Given the description of an element on the screen output the (x, y) to click on. 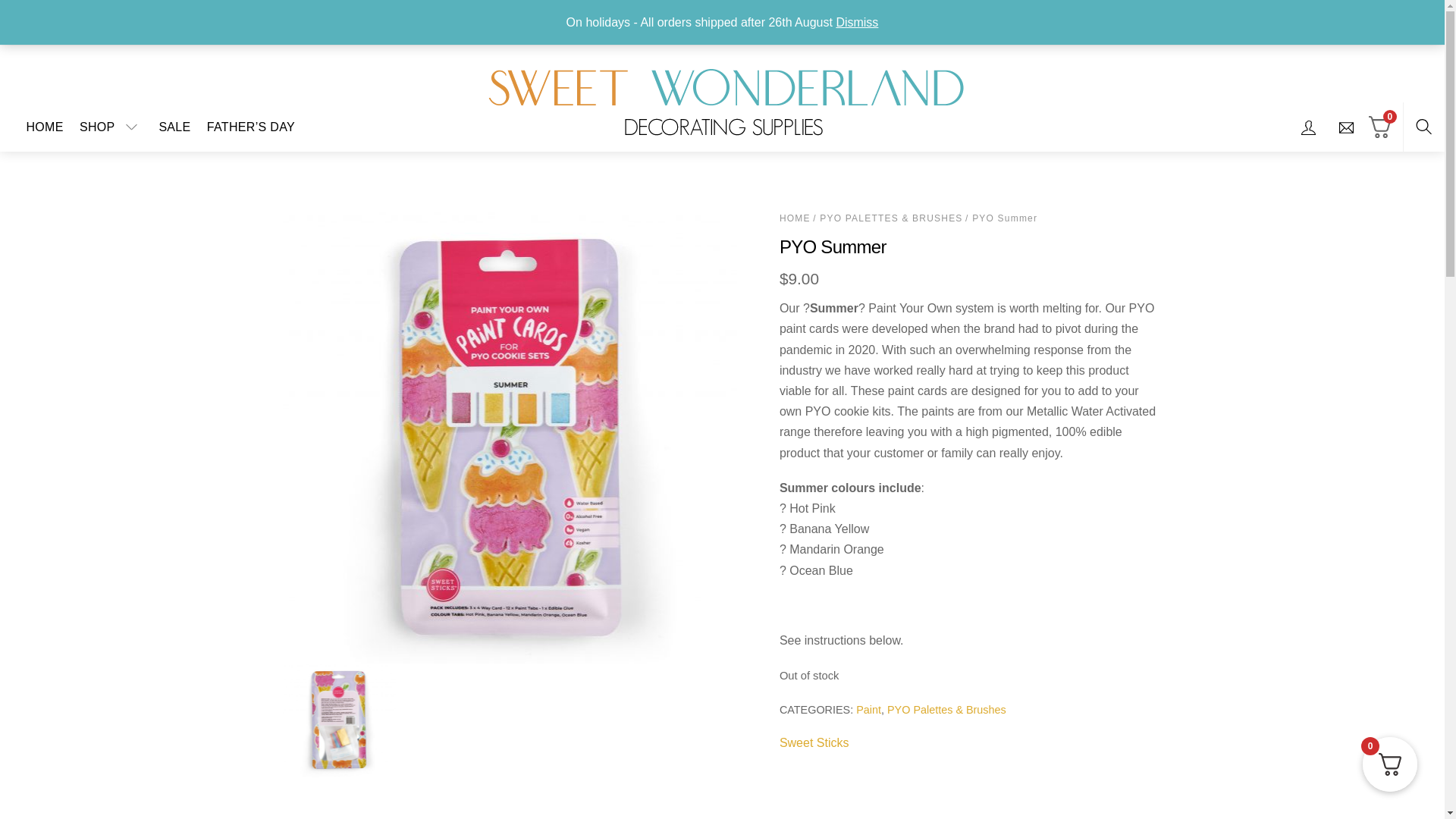
logohorizontal (724, 98)
View brand (813, 742)
SHOP (111, 126)
HOME (44, 126)
Sweet Wonderland (724, 96)
